Given the description of an element on the screen output the (x, y) to click on. 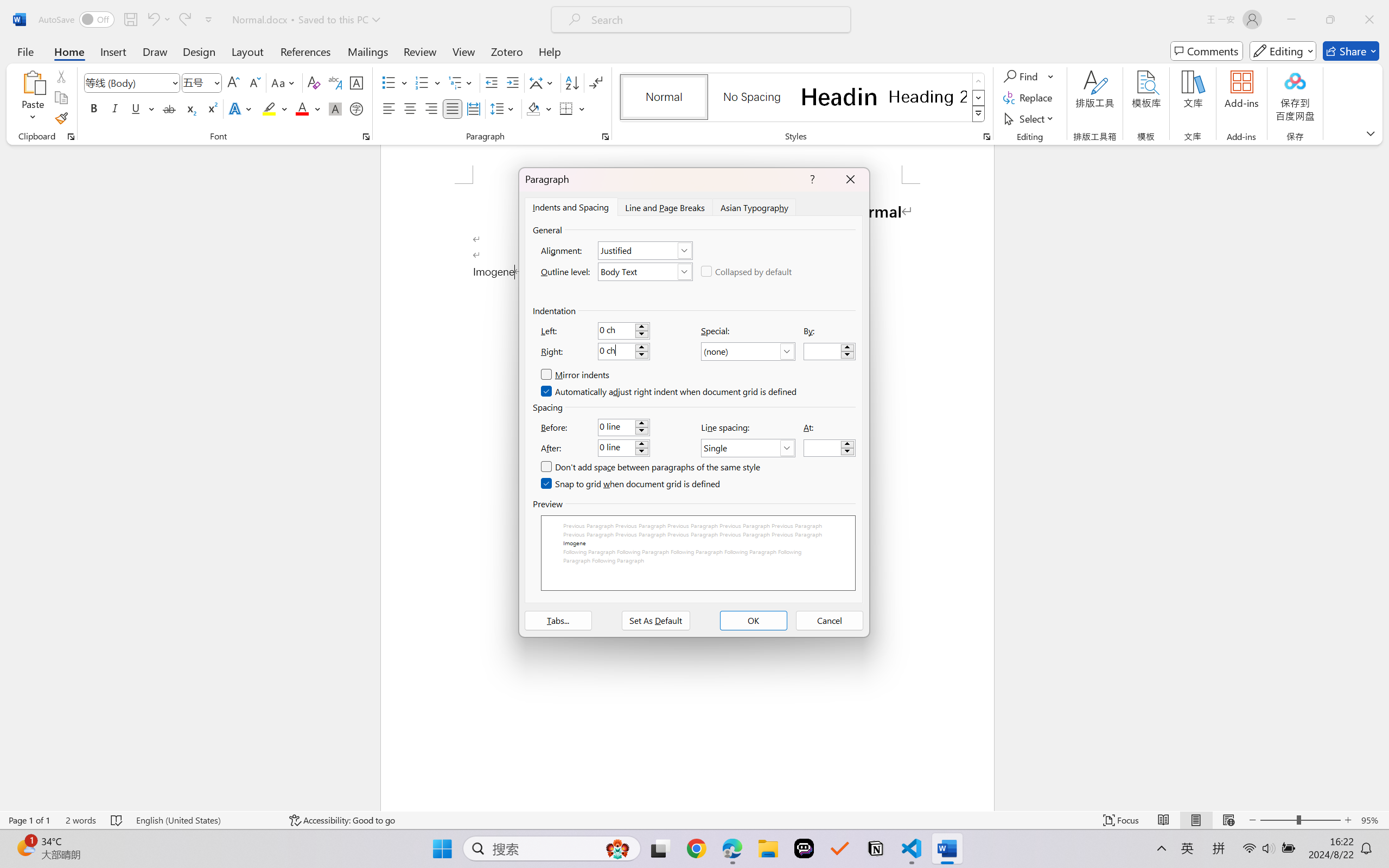
AutomationID: QuickStylesGallery (802, 97)
Class: NetUIScrollBar (1382, 477)
Font Color (308, 108)
Indents and Spacing (570, 206)
Heading 2 (927, 96)
Strikethrough (169, 108)
Collapsed by default (747, 271)
Open (215, 82)
